Given the description of an element on the screen output the (x, y) to click on. 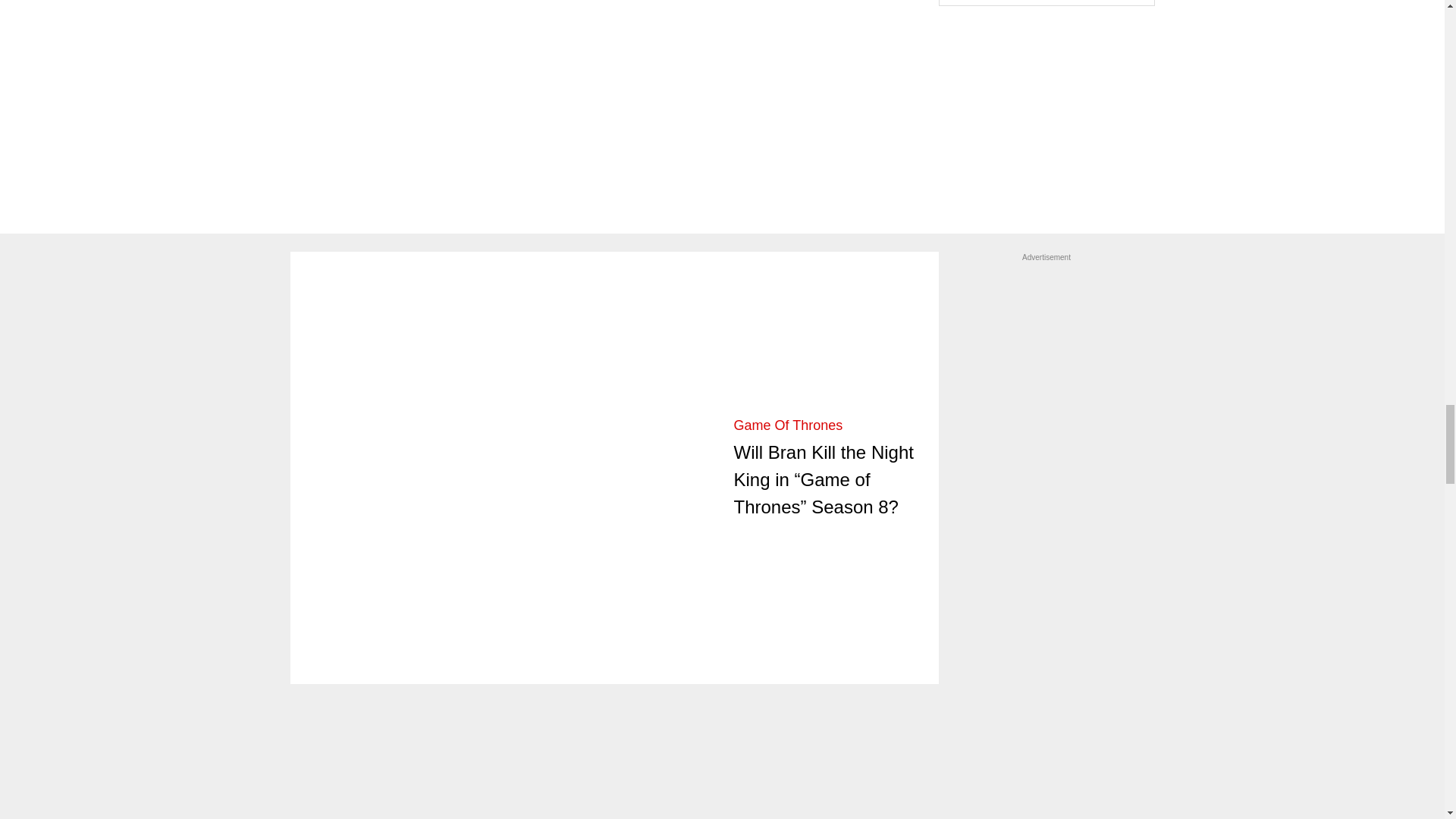
Category Name (788, 425)
